Given the description of an element on the screen output the (x, y) to click on. 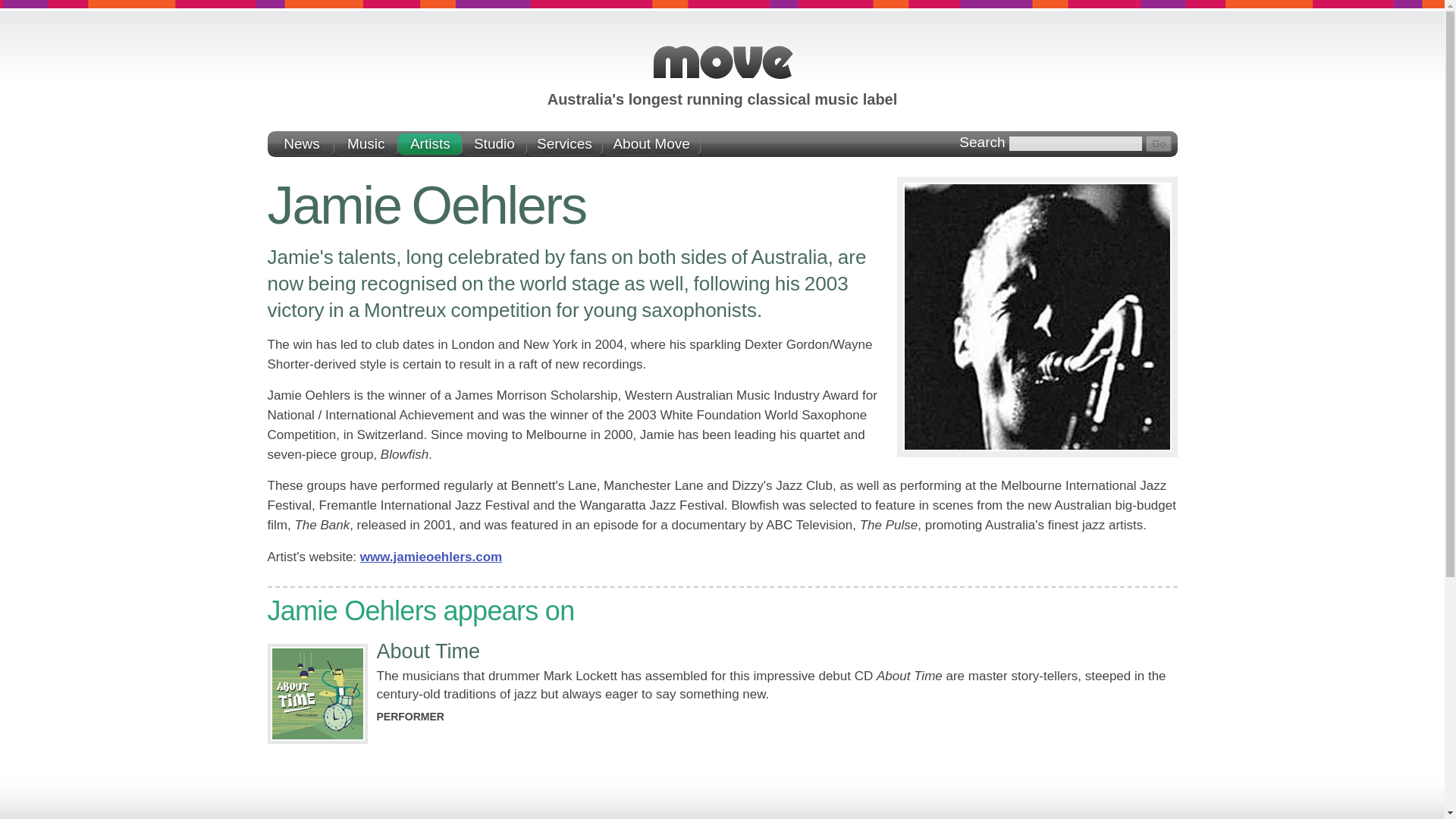
Music (366, 144)
Services (564, 144)
Go (1158, 143)
About Move (651, 144)
Go (1158, 143)
News (301, 144)
Studio (495, 144)
Artists (430, 144)
About Time (427, 650)
www.jamieoehlers.com (430, 556)
